Given the description of an element on the screen output the (x, y) to click on. 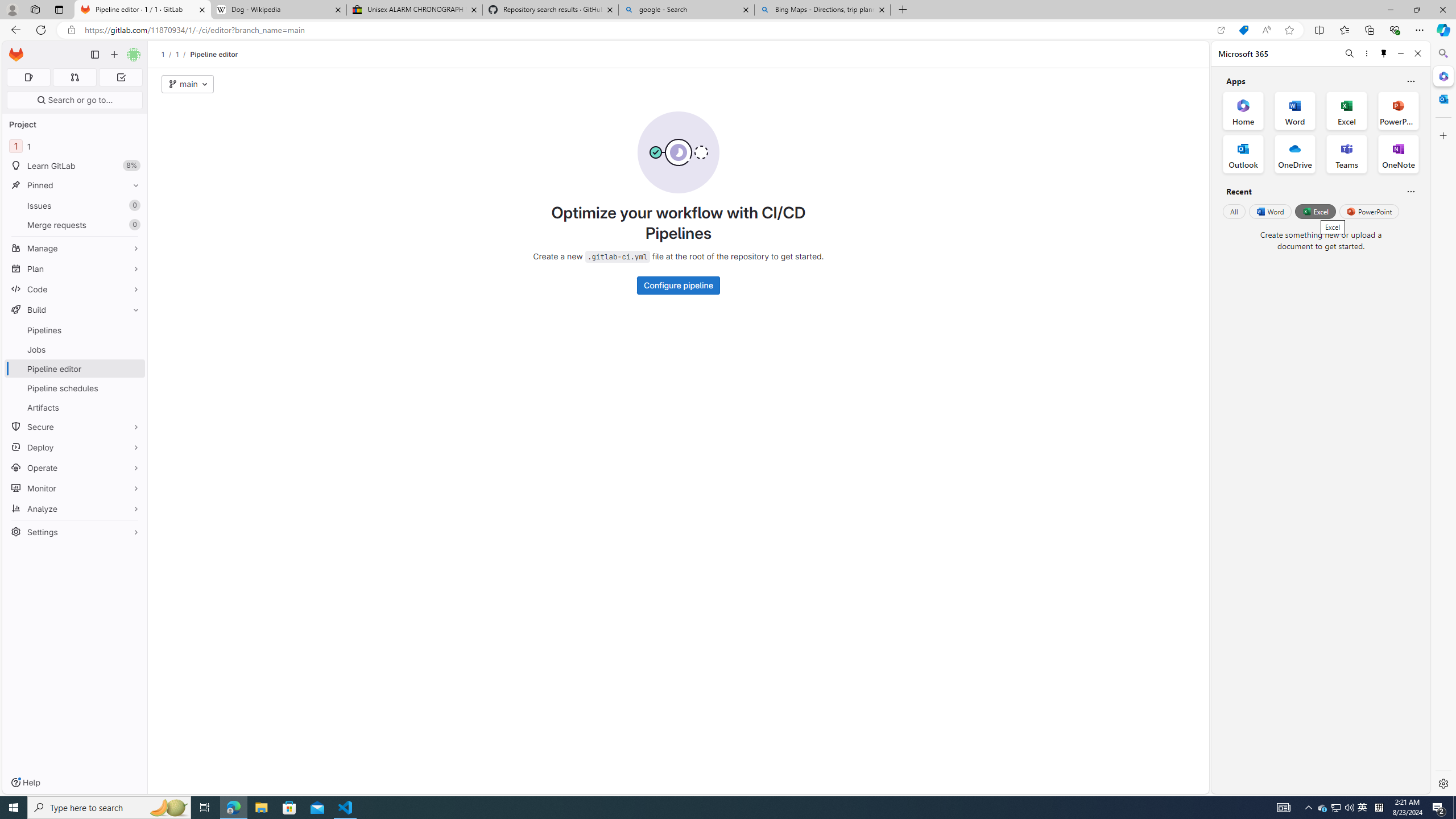
Pipelines (74, 330)
Plan (74, 268)
Pin Pipelines (132, 329)
Artifacts (74, 407)
Code (74, 289)
Unpin Issues (132, 205)
Primary navigation sidebar (94, 54)
Learn GitLab 8% (74, 165)
Word Office App (1295, 110)
